Given the description of an element on the screen output the (x, y) to click on. 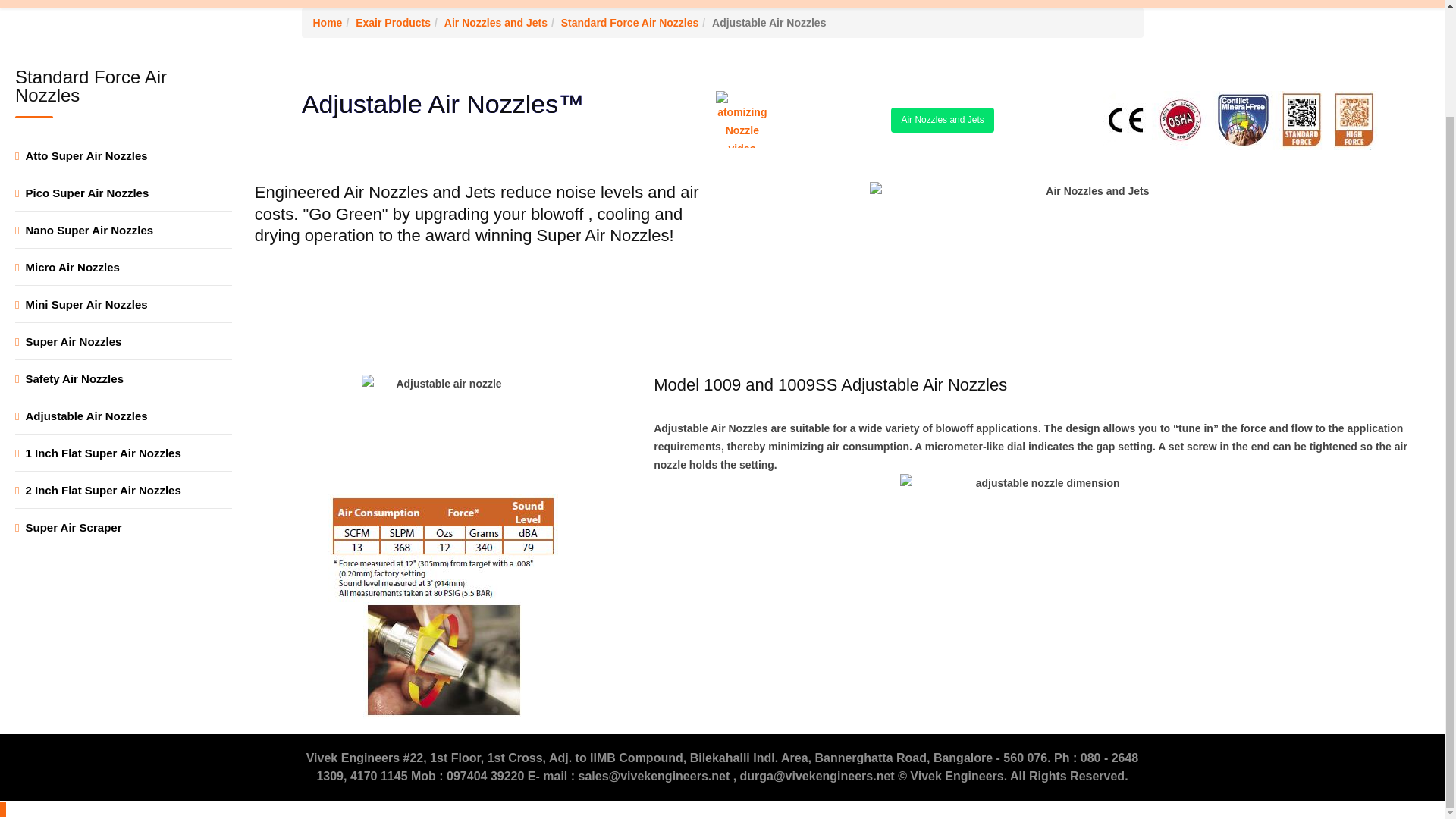
Home (352, 3)
About Us (413, 3)
Exair Products (501, 3)
